Given the description of an element on the screen output the (x, y) to click on. 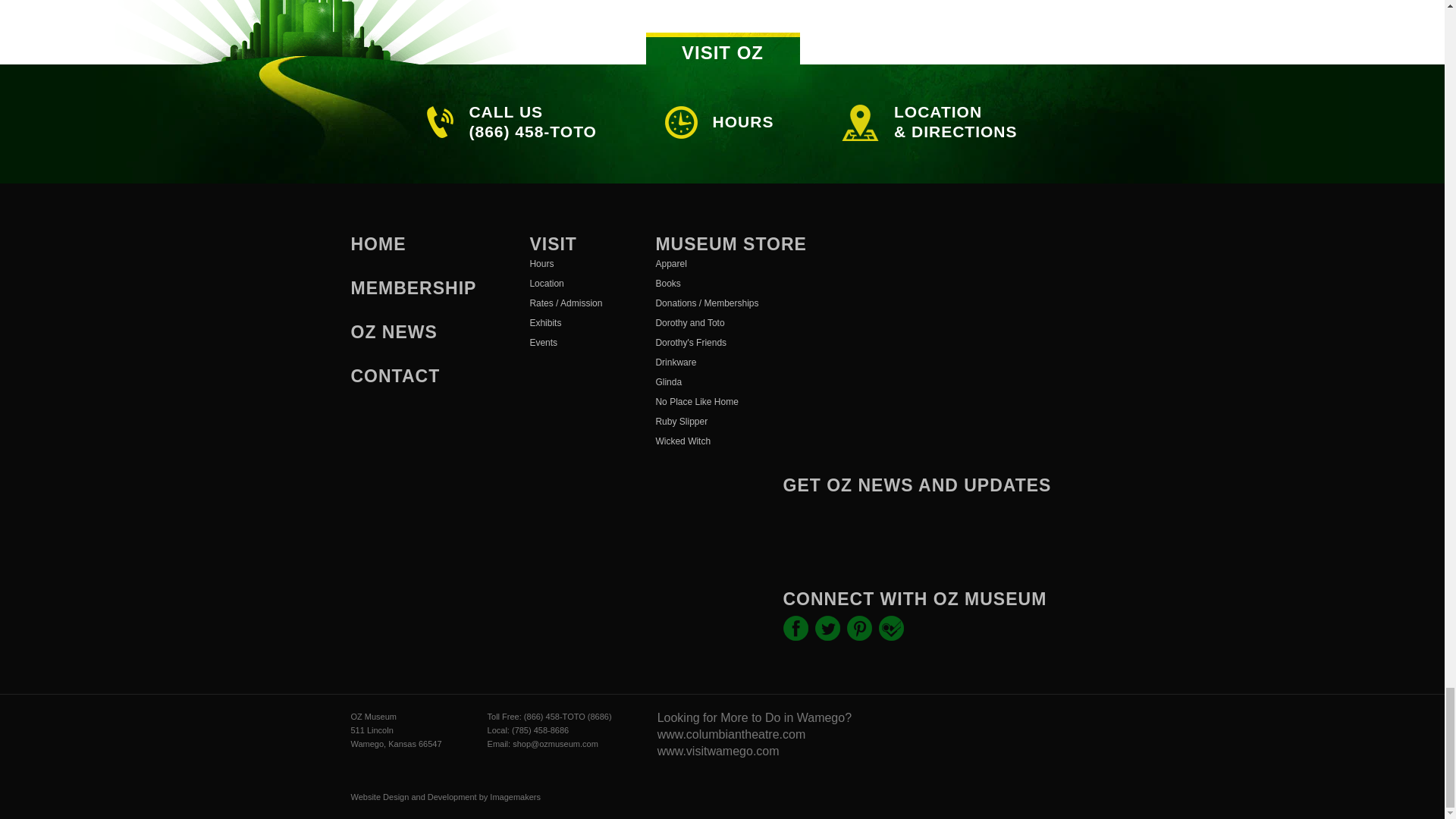
Location (565, 283)
VISIT (552, 243)
Dorothy and Toto (730, 322)
MEMBERSHIP (413, 288)
Hours (565, 263)
VISIT OZ (722, 49)
Dorothy's Friends (730, 342)
CONTACT (394, 375)
Books (730, 283)
Exhibits (565, 322)
